Given the description of an element on the screen output the (x, y) to click on. 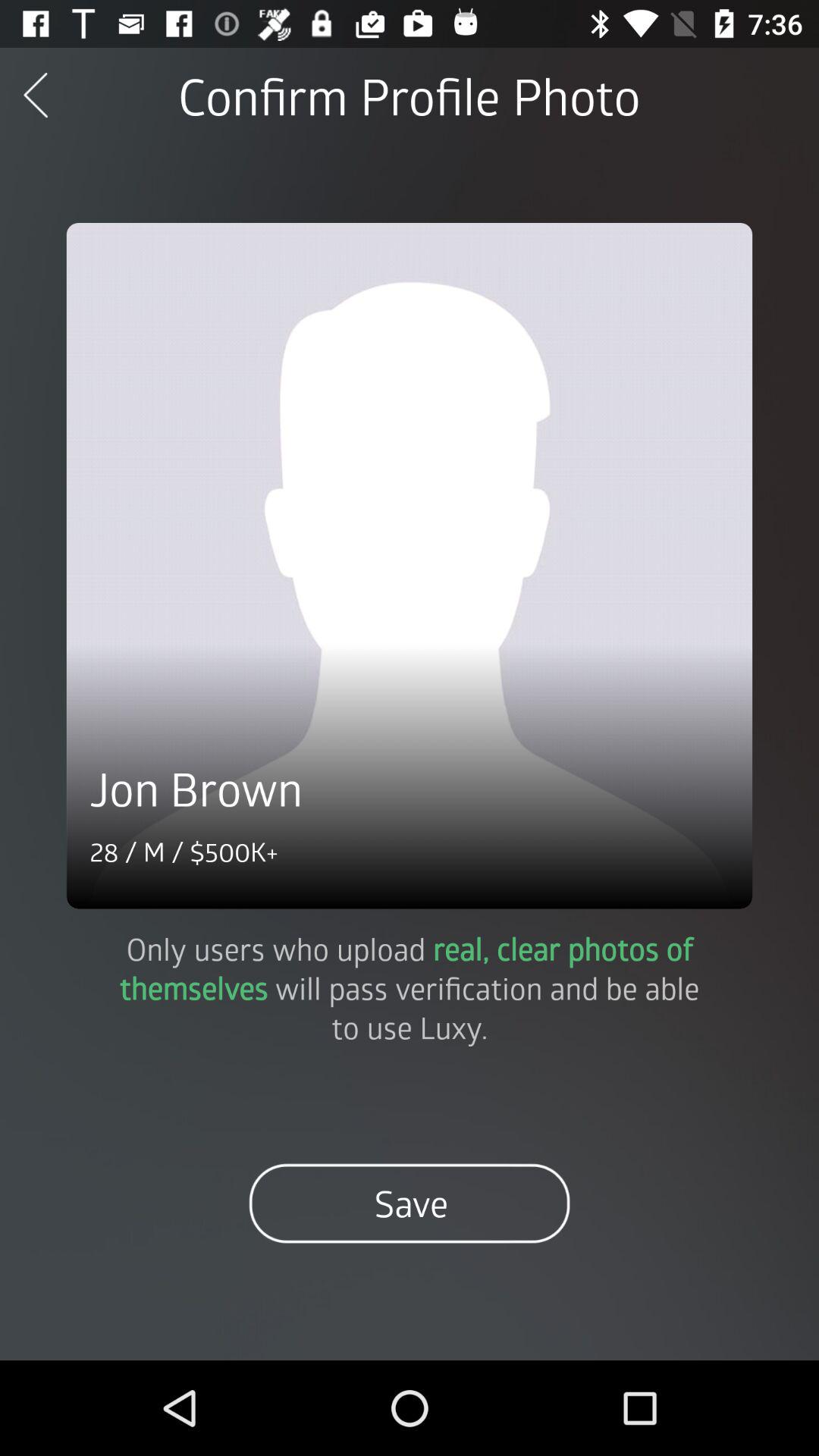
swipe to confirm profile photo (409, 95)
